Given the description of an element on the screen output the (x, y) to click on. 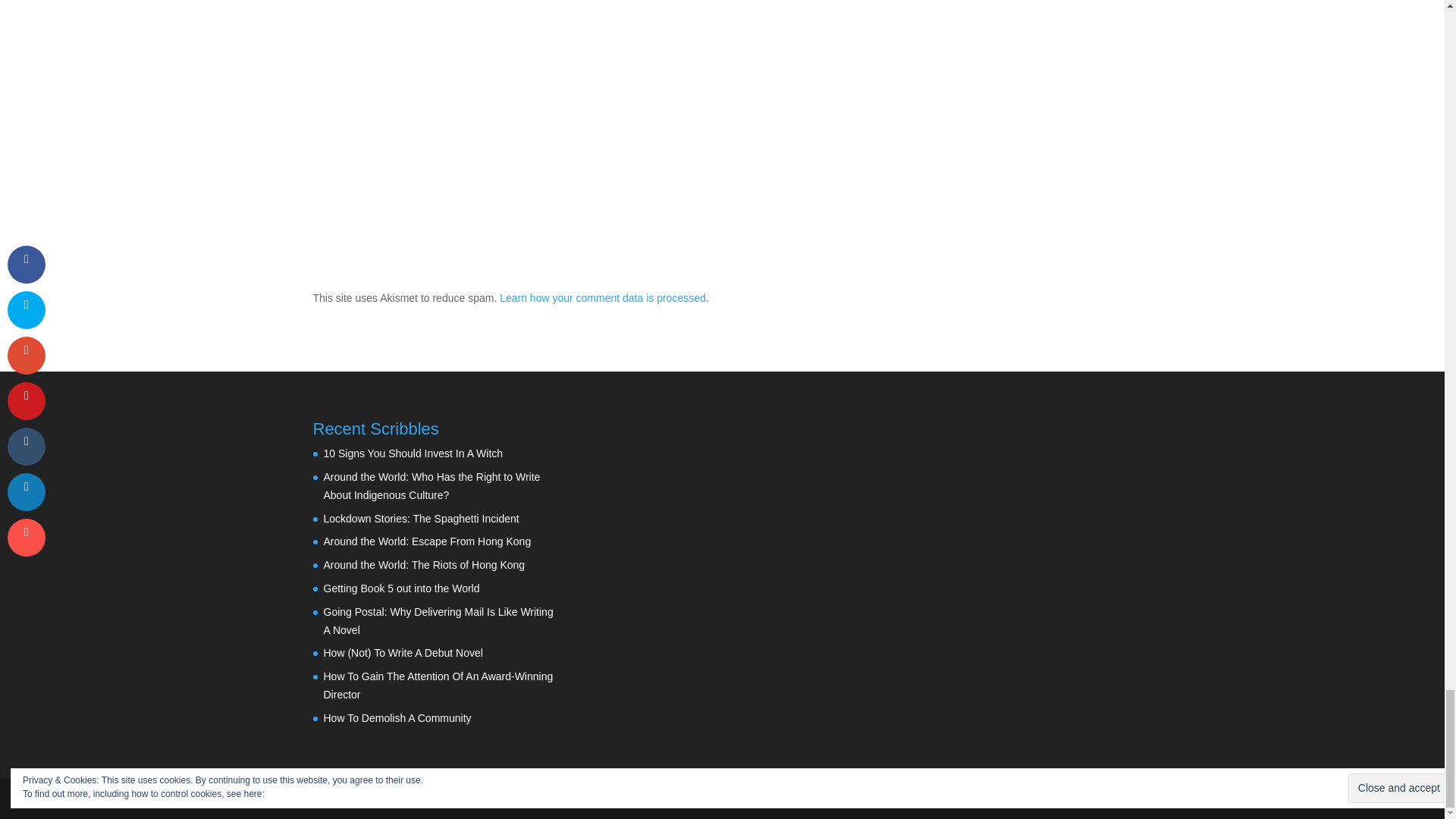
Learn how your comment data is processed (602, 297)
How To Gain The Attention Of An Award-Winning Director (438, 685)
How To Demolish A Community (396, 717)
Around the World: The Riots of Hong Kong (423, 564)
Around the World: Escape From Hong Kong (427, 541)
10 Signs You Should Invest In A Witch (412, 453)
Going Postal: Why Delivering Mail Is Like Writing A Novel (438, 621)
Lockdown Stories: The Spaghetti Incident (420, 518)
